Given the description of an element on the screen output the (x, y) to click on. 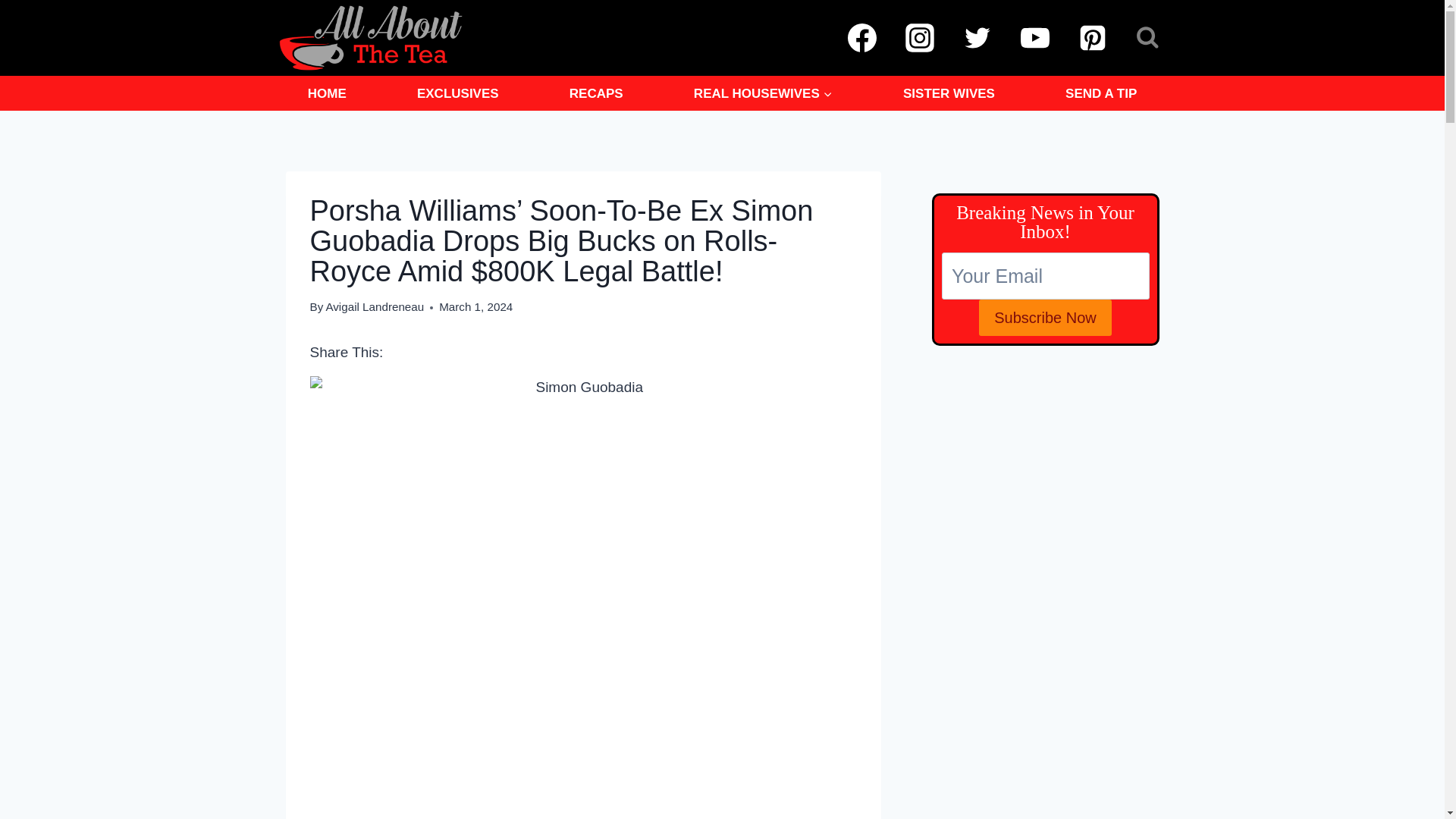
Avigail Landreneau (373, 306)
SEND A TIP (1100, 93)
RECAPS (596, 93)
REAL HOUSEWIVES (762, 93)
EXCLUSIVES (457, 93)
HOME (326, 93)
SISTER WIVES (948, 93)
